Given the description of an element on the screen output the (x, y) to click on. 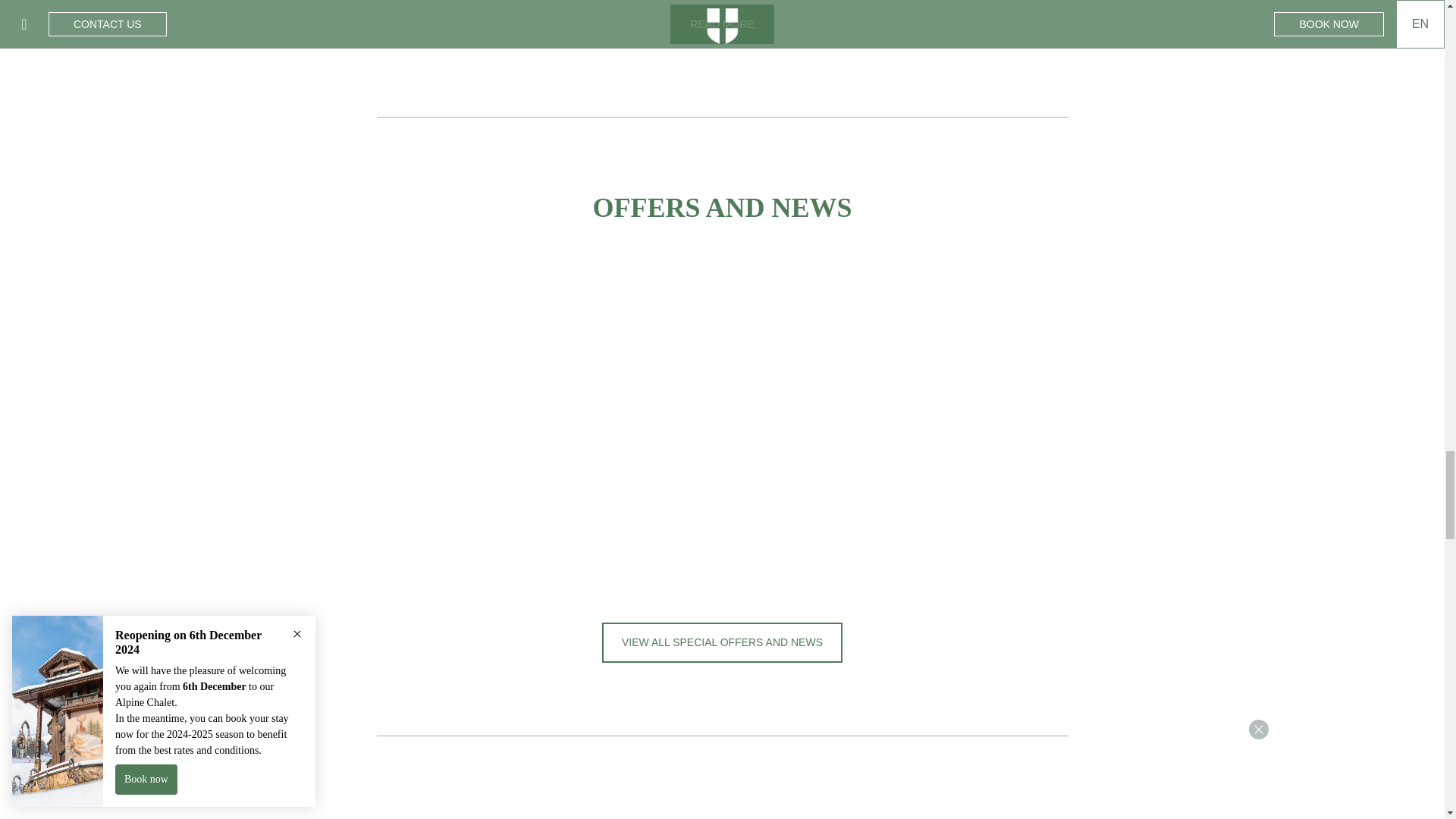
READ MORE (721, 24)
